Given the description of an element on the screen output the (x, y) to click on. 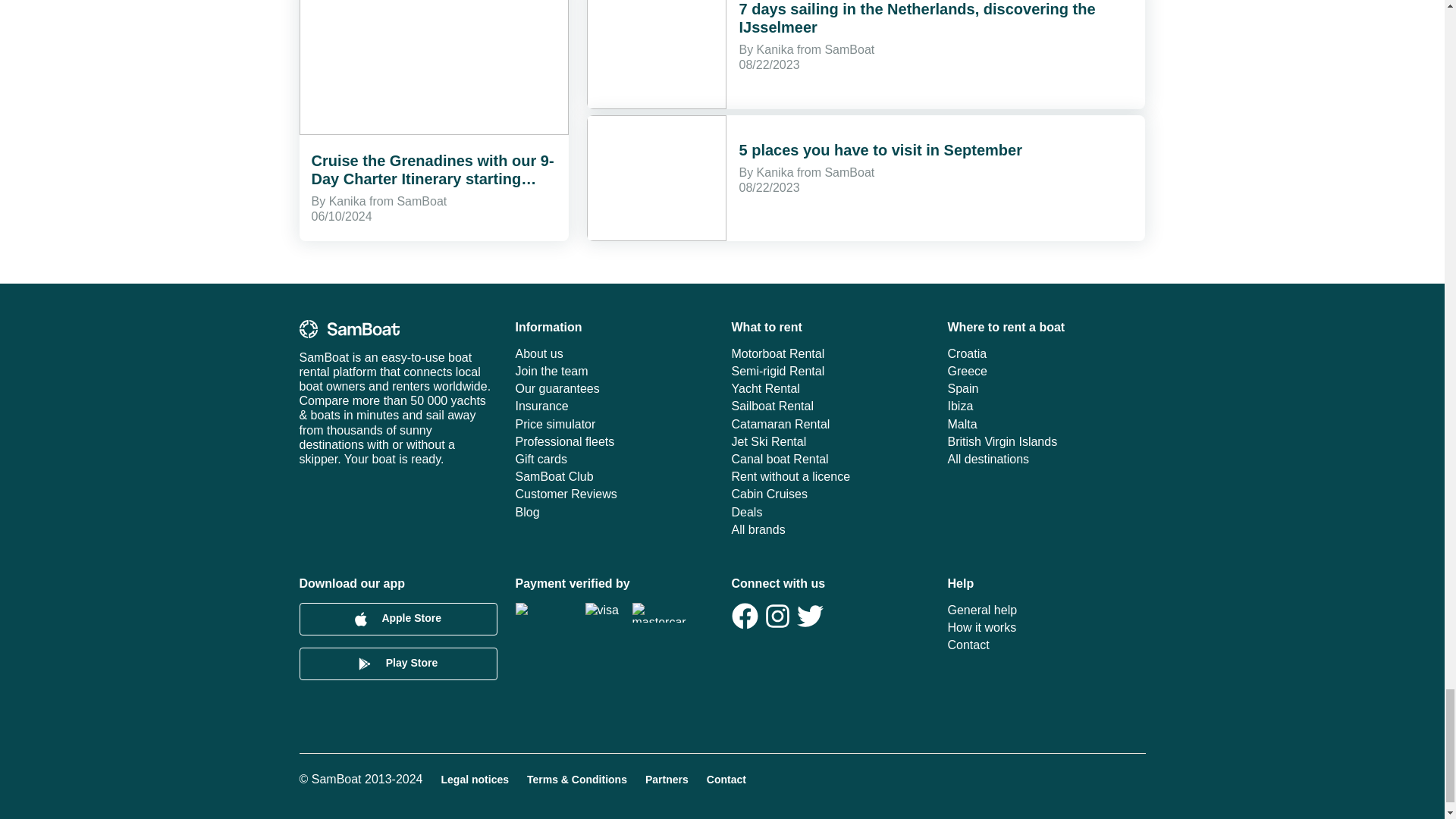
Kanika from SamBoat (387, 201)
Apple Store (397, 618)
Motorboat Rental (829, 353)
5 places you have to visit in September (880, 149)
Price simulator (614, 423)
Blog (614, 512)
Insurance (614, 405)
SamBoat Club (614, 476)
Customer Reviews (614, 493)
About us (614, 353)
Professional fleets (614, 441)
Join the team (614, 370)
Kanika from SamBoat (816, 172)
